Given the description of an element on the screen output the (x, y) to click on. 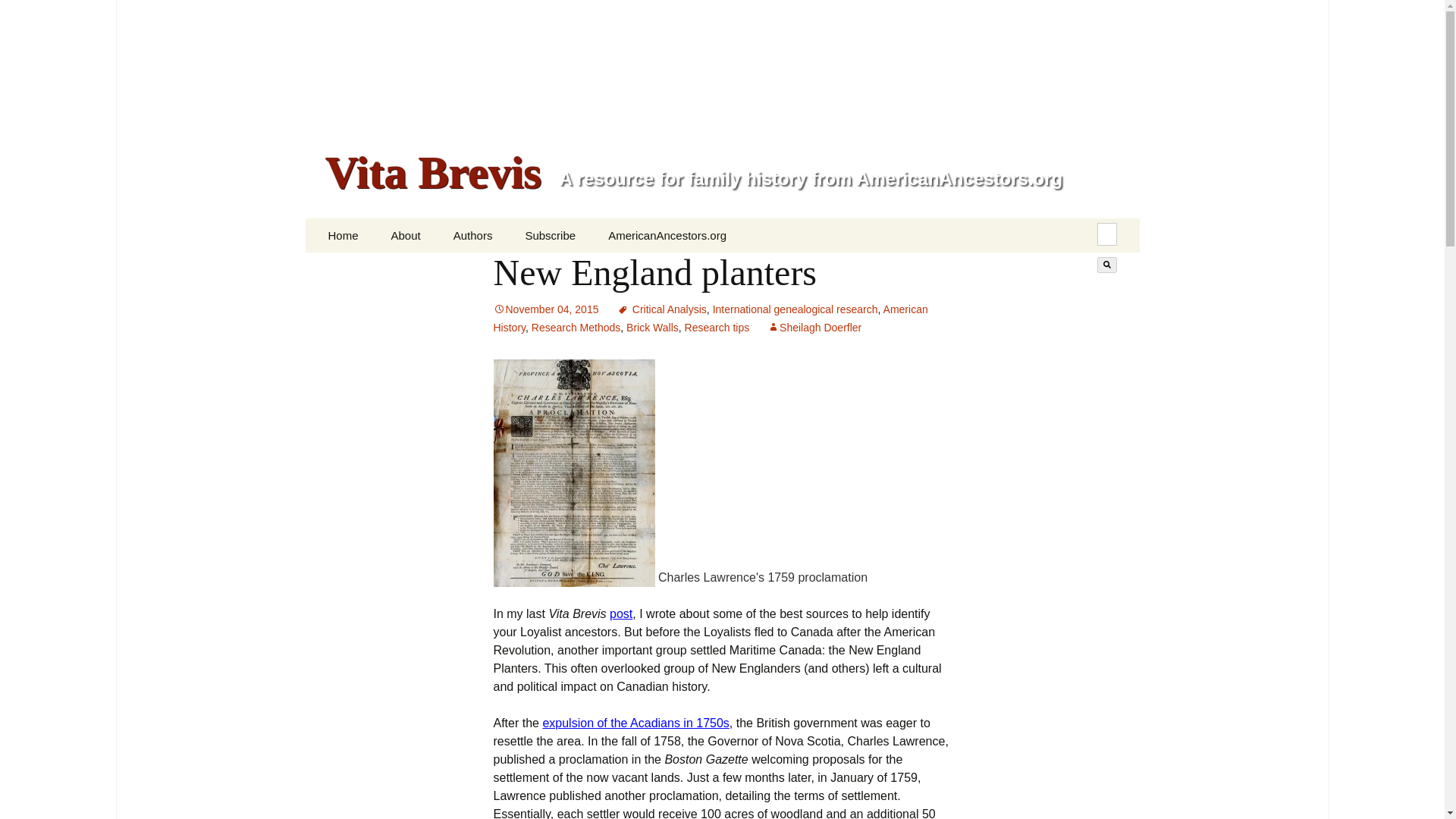
Home (342, 235)
Authors (473, 235)
About (405, 235)
